Given the description of an element on the screen output the (x, y) to click on. 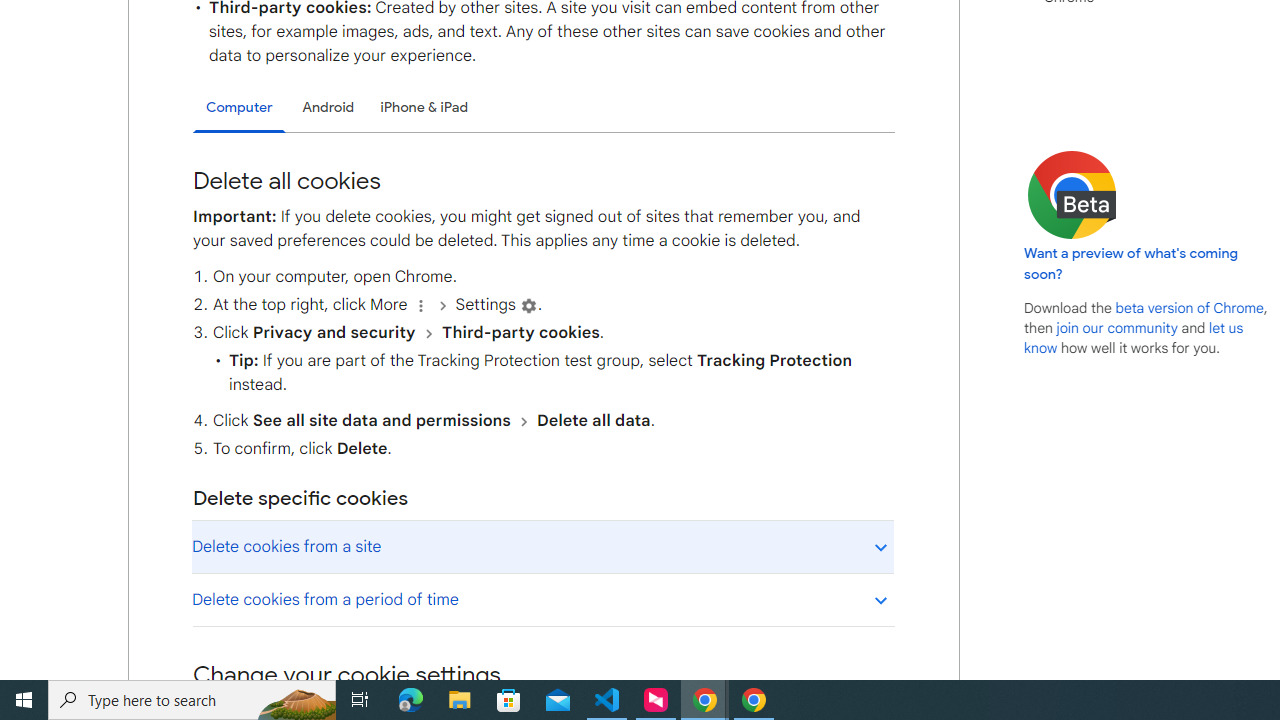
let us know (1134, 337)
Chrome Beta logo (1072, 194)
Settings (528, 305)
join our community (1116, 327)
beta version of Chrome (1189, 307)
Android (328, 107)
Want a preview of what's coming soon? (1131, 263)
More (420, 305)
and then (523, 421)
Computer (239, 108)
Delete cookies from a site (542, 546)
iPhone & iPad (424, 107)
Delete cookies from a period of time (542, 599)
